Given the description of an element on the screen output the (x, y) to click on. 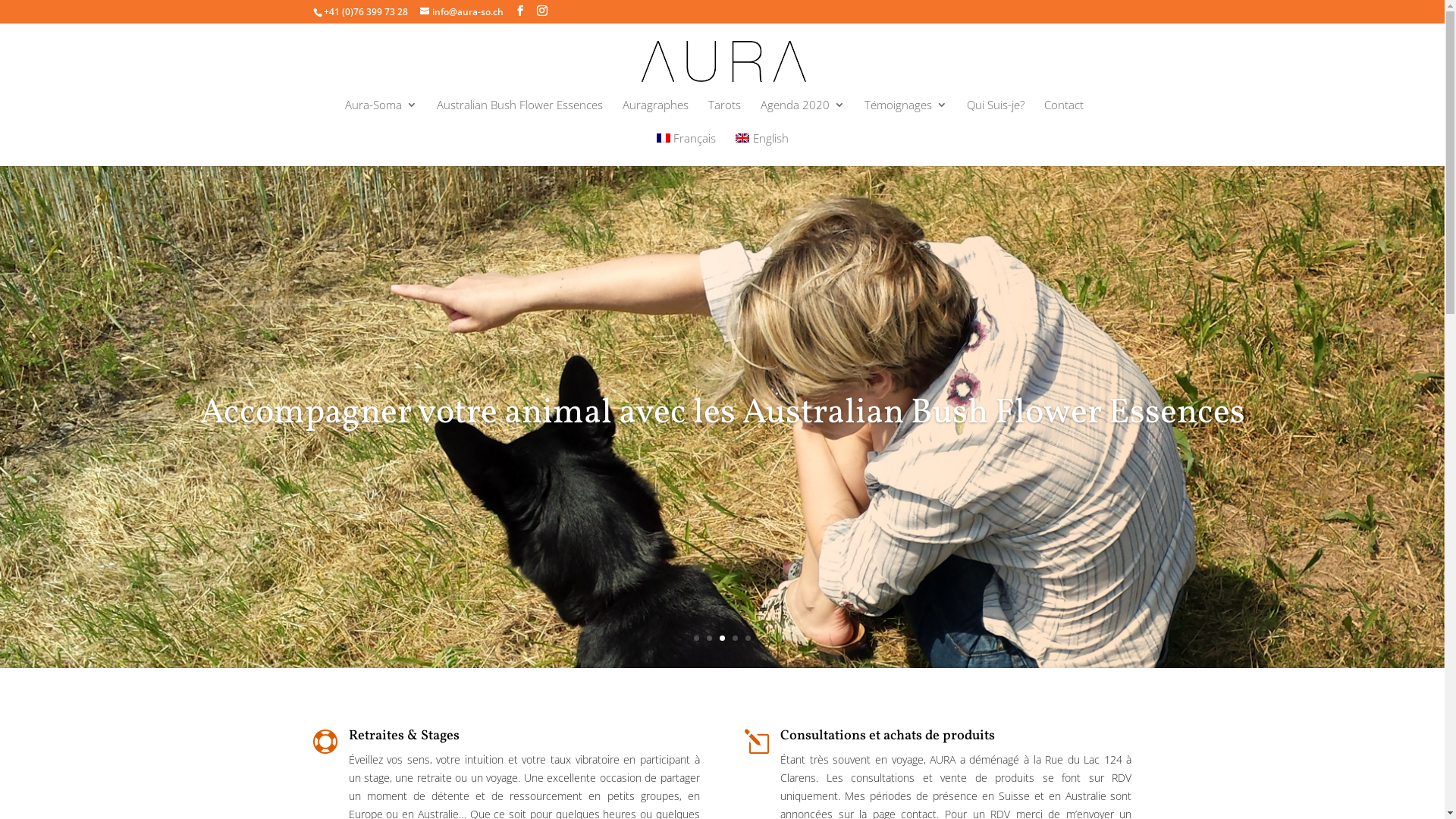
4 Element type: text (734, 637)
5 Element type: text (747, 637)
info@aura-so.ch Element type: text (461, 11)
Retraites & Stages Element type: text (403, 735)
2 Element type: text (709, 637)
l Element type: text (756, 741)
English Element type: text (761, 149)
3 Element type: text (721, 637)
Qui Suis-je? Element type: text (994, 115)
Consultations et achats de produits Element type: text (887, 735)
Contact Element type: text (1062, 115)
Agenda 2020 Element type: text (801, 115)
Aura-Soma Element type: text (380, 115)
Australian Bush Flower Essences Element type: text (519, 115)
Auragraphes Element type: text (654, 115)
Tarots Element type: text (724, 115)
1 Element type: text (696, 637)
